Given the description of an element on the screen output the (x, y) to click on. 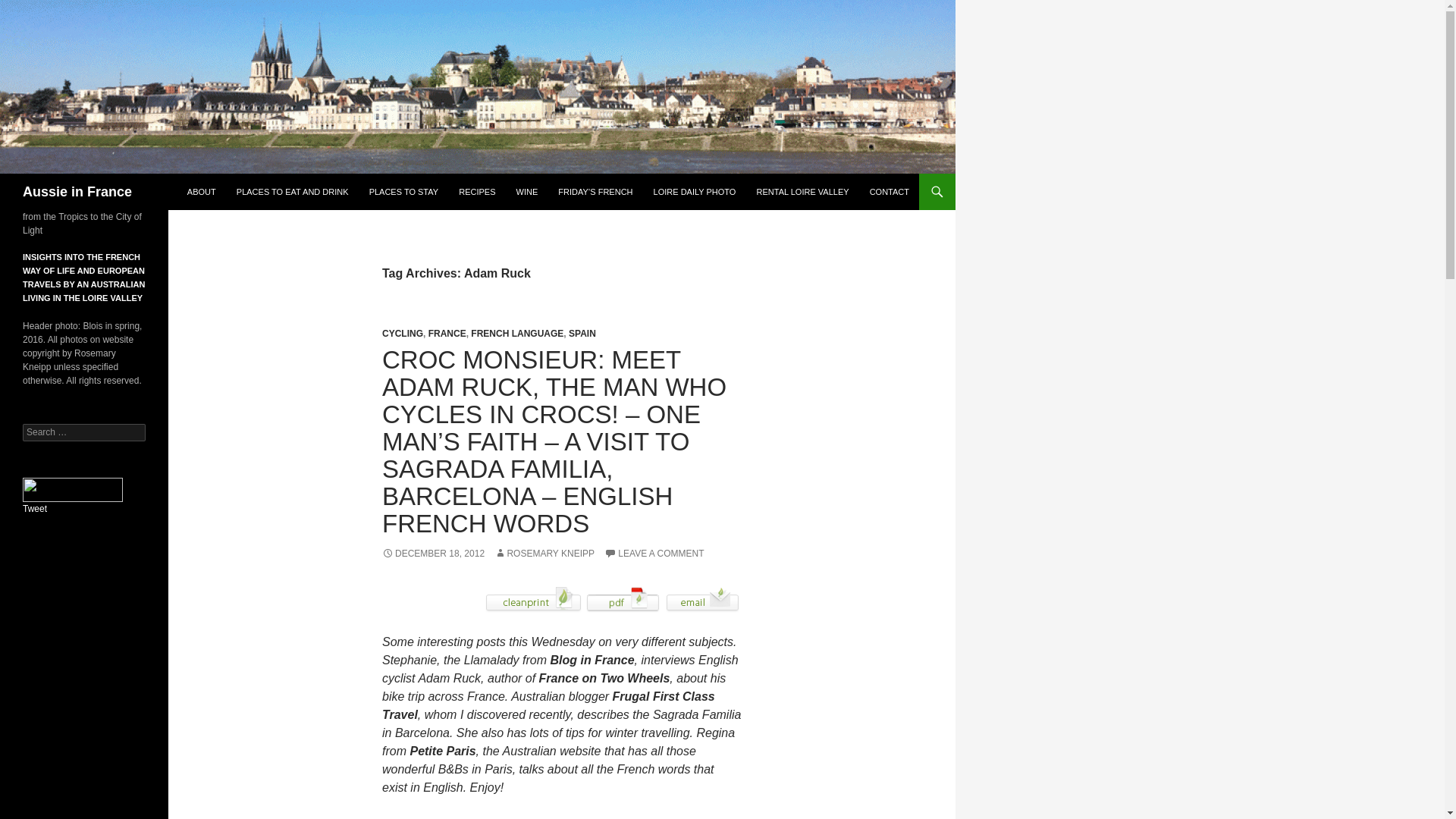
FRENCH LANGUAGE (516, 333)
RECIPES (476, 191)
PLACES TO EAT AND DRINK (292, 191)
LEAVE A COMMENT (653, 552)
ABOUT (201, 191)
Print page (533, 598)
PLACES TO STAY (403, 191)
Email page (702, 598)
WINE (526, 191)
